Given the description of an element on the screen output the (x, y) to click on. 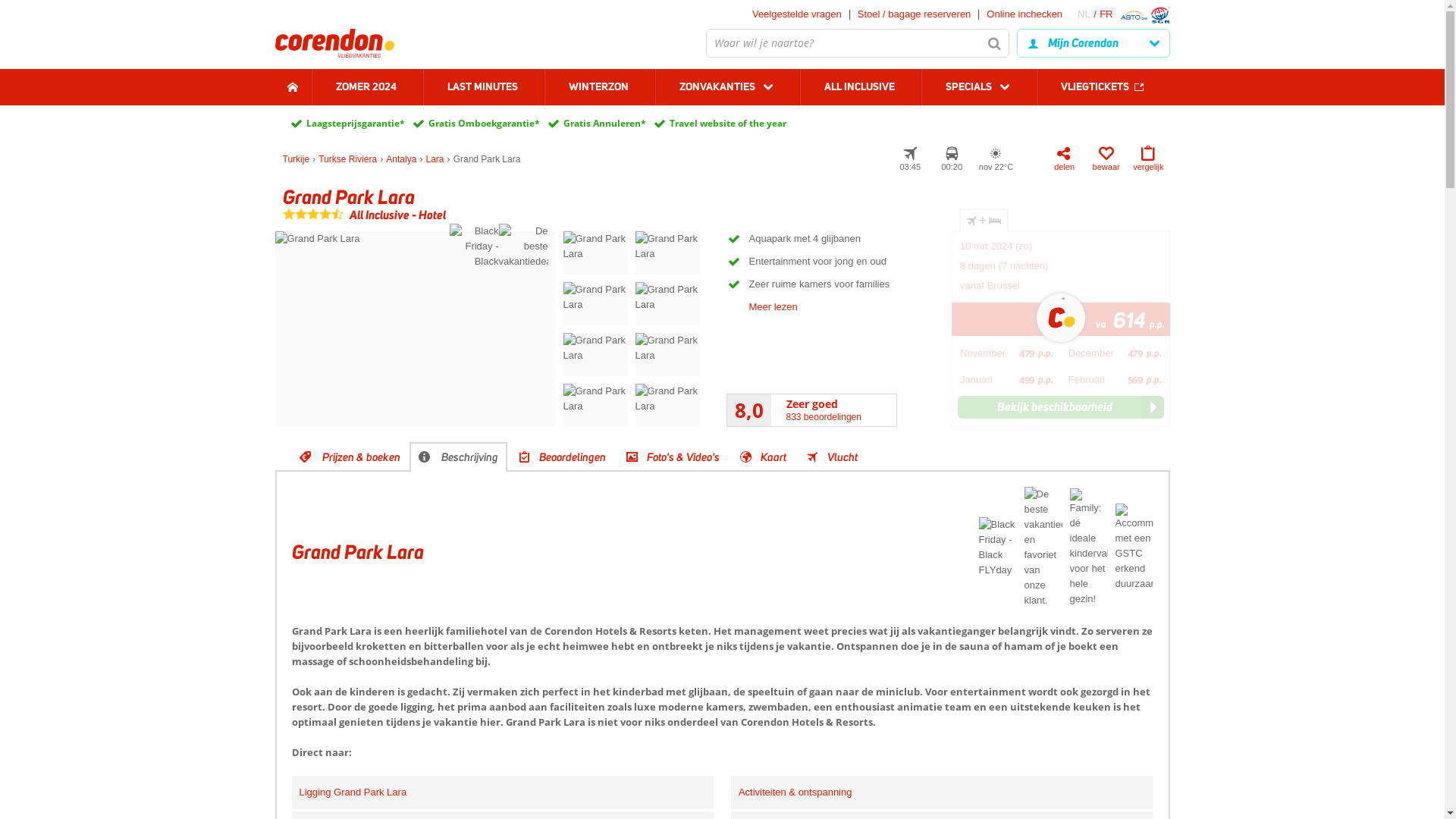
Gratis Omboekgarantie* Element type: text (483, 123)
Bekijk beschikbaarheid Element type: text (1060, 406)
Meer lezen Element type: text (773, 306)
Accommodaties met een GSTC erkend duurzaamheidscertificaat. Element type: hover (1132, 550)
Prijzen & boeken Element type: text (348, 457)
Foto's & Video's Element type: text (671, 457)
Januari
499
p.p. Element type: text (1006, 379)
VLIEGTICKETS Element type: text (1102, 87)
Goedkope vakantie boeken met Corendon Vliegvakanties Element type: hover (334, 42)
Februari
569
p.p. Element type: text (1114, 379)
Lara Element type: text (434, 158)
LAST MINUTES Element type: text (481, 87)
Beschrijving Element type: text (458, 457)
ALL INCLUSIVE Element type: text (859, 87)
Stoel / bagage reserveren Element type: text (914, 13)
ZOMER 2024 Element type: text (366, 87)
December
479
p.p. Element type: text (1114, 352)
NL Element type: text (1088, 13)
Ligging Grand Park Lara Element type: text (352, 791)
Turkse Riviera Element type: text (347, 158)
Laagsteprijsgarantie* Element type: text (355, 123)
Vlucht Element type: text (830, 457)
Black Friday - Black FLYday Element type: hover (997, 550)
Online inchecken Element type: text (1024, 13)
Turkije Element type: text (295, 158)
Veelgestelde vragen Element type: text (796, 13)
WINTERZON Element type: text (597, 87)
De beste vakantiedeal en favoriet van onze klant. Element type: hover (523, 248)
Beoordelingen Element type: text (560, 457)
Black Friday - Black FLYday Element type: hover (473, 248)
Kaart Element type: text (761, 457)
FR Element type: text (1105, 13)
Home Element type: hover (292, 87)
Activiteiten & ontspanning Element type: text (795, 791)
Antalya Element type: text (400, 158)
November
479
p.p. Element type: text (1006, 352)
Gratis Annuleren* Element type: text (603, 123)
De beste vakantiedeal en favoriet van onze klant. Element type: hover (1043, 550)
